Given the description of an element on the screen output the (x, y) to click on. 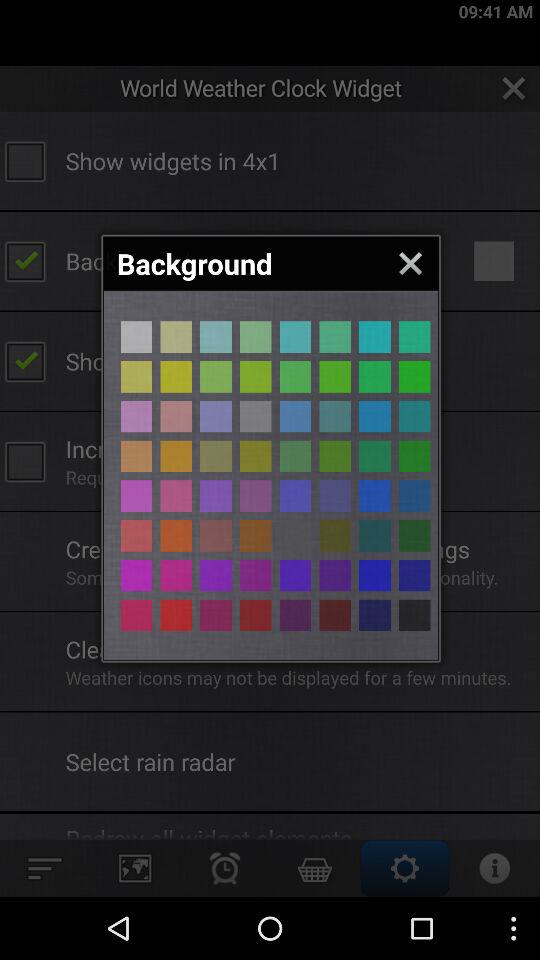
color button (295, 416)
